Given the description of an element on the screen output the (x, y) to click on. 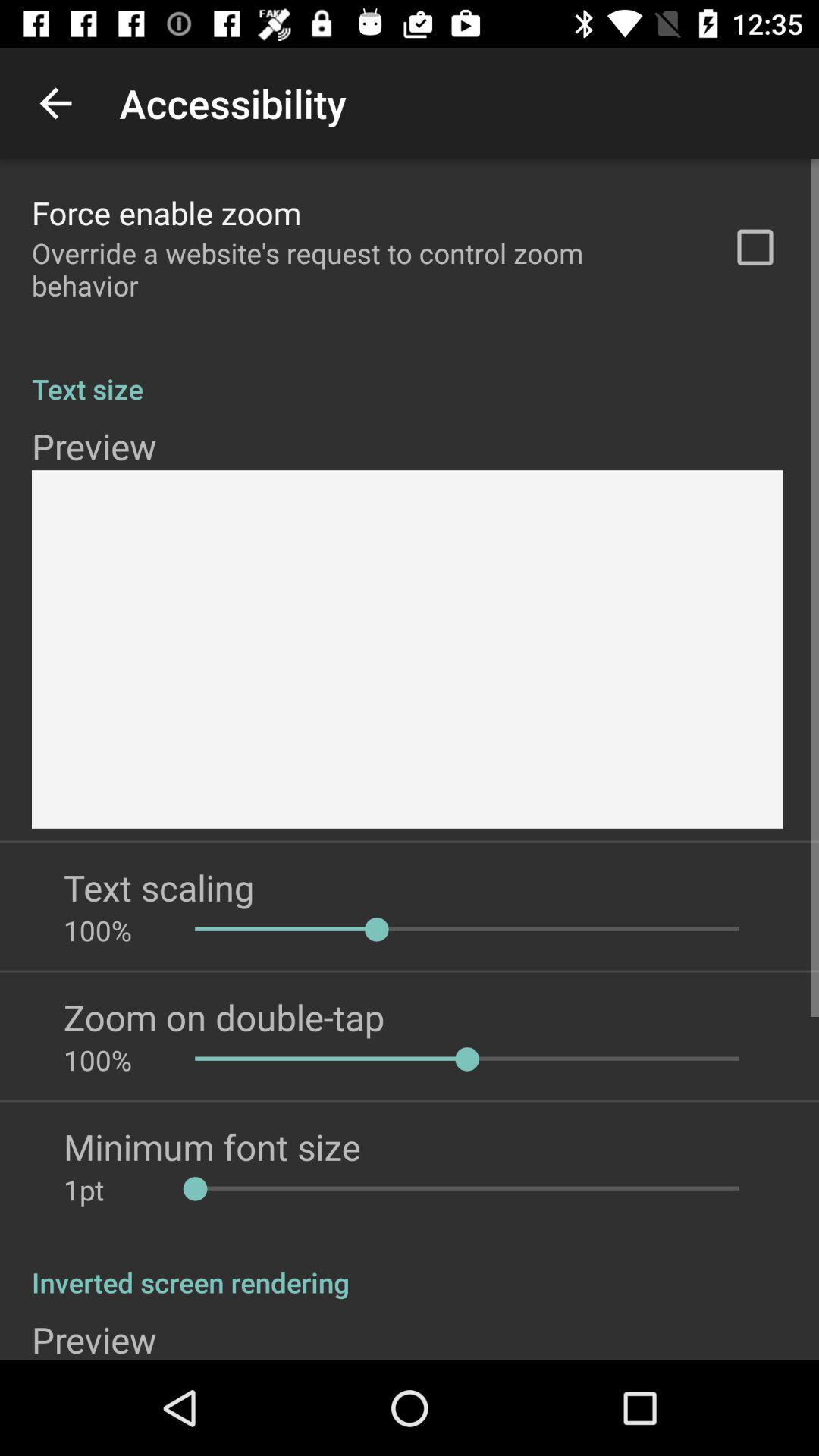
tap minimum font size (211, 1146)
